Given the description of an element on the screen output the (x, y) to click on. 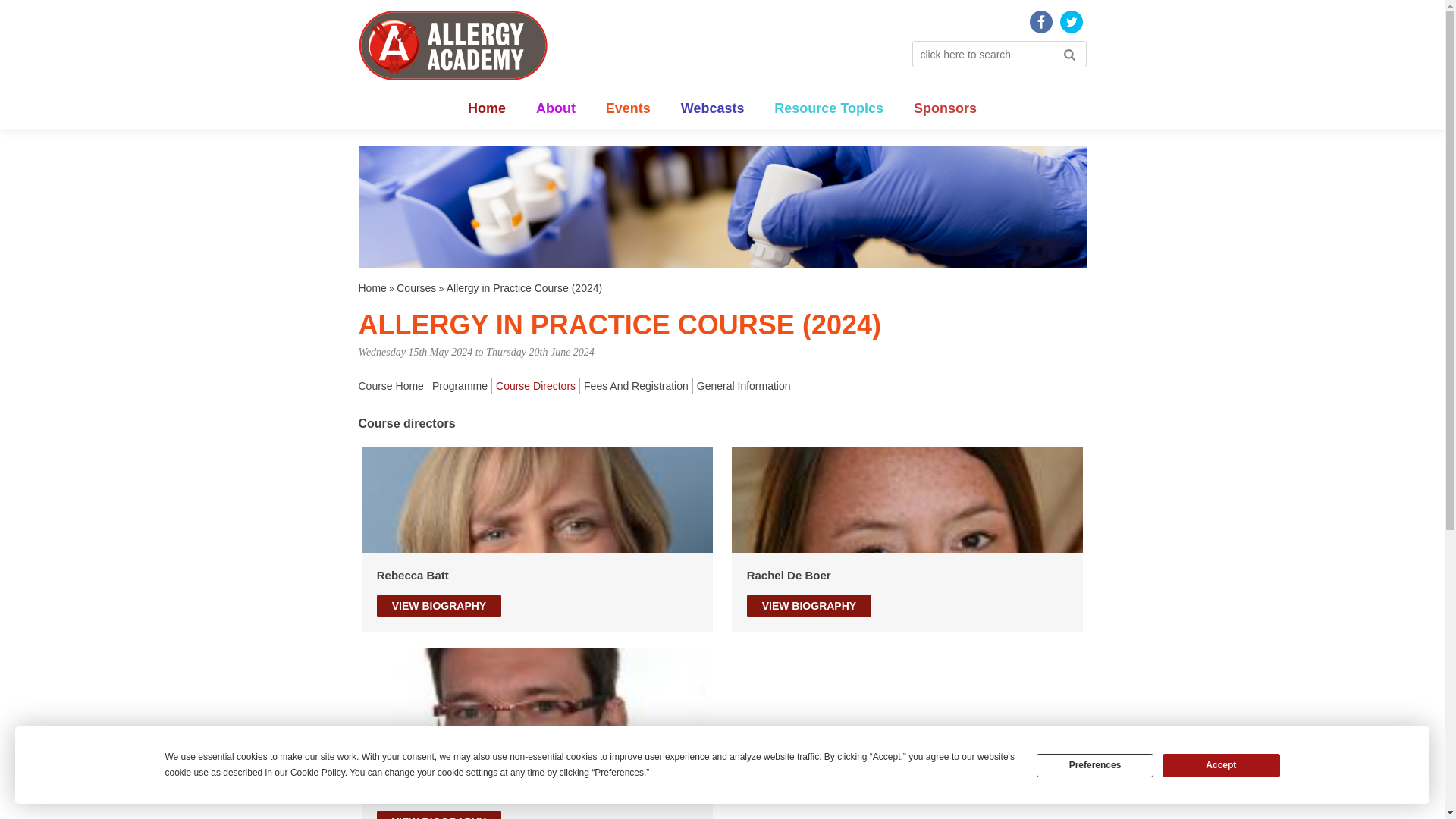
General Information (741, 385)
Resource Topics (828, 108)
VIEW BIOGRAPHY (808, 605)
Twitter (1071, 21)
About (555, 108)
Sponsors (945, 108)
Course Home (390, 385)
Facebook (1040, 21)
Enter the terms you wish to search for. (998, 53)
Allergy Academy (452, 45)
Events (627, 108)
VIEW BIOGRAPHY (438, 605)
Home (371, 287)
Programme (457, 385)
